Given the description of an element on the screen output the (x, y) to click on. 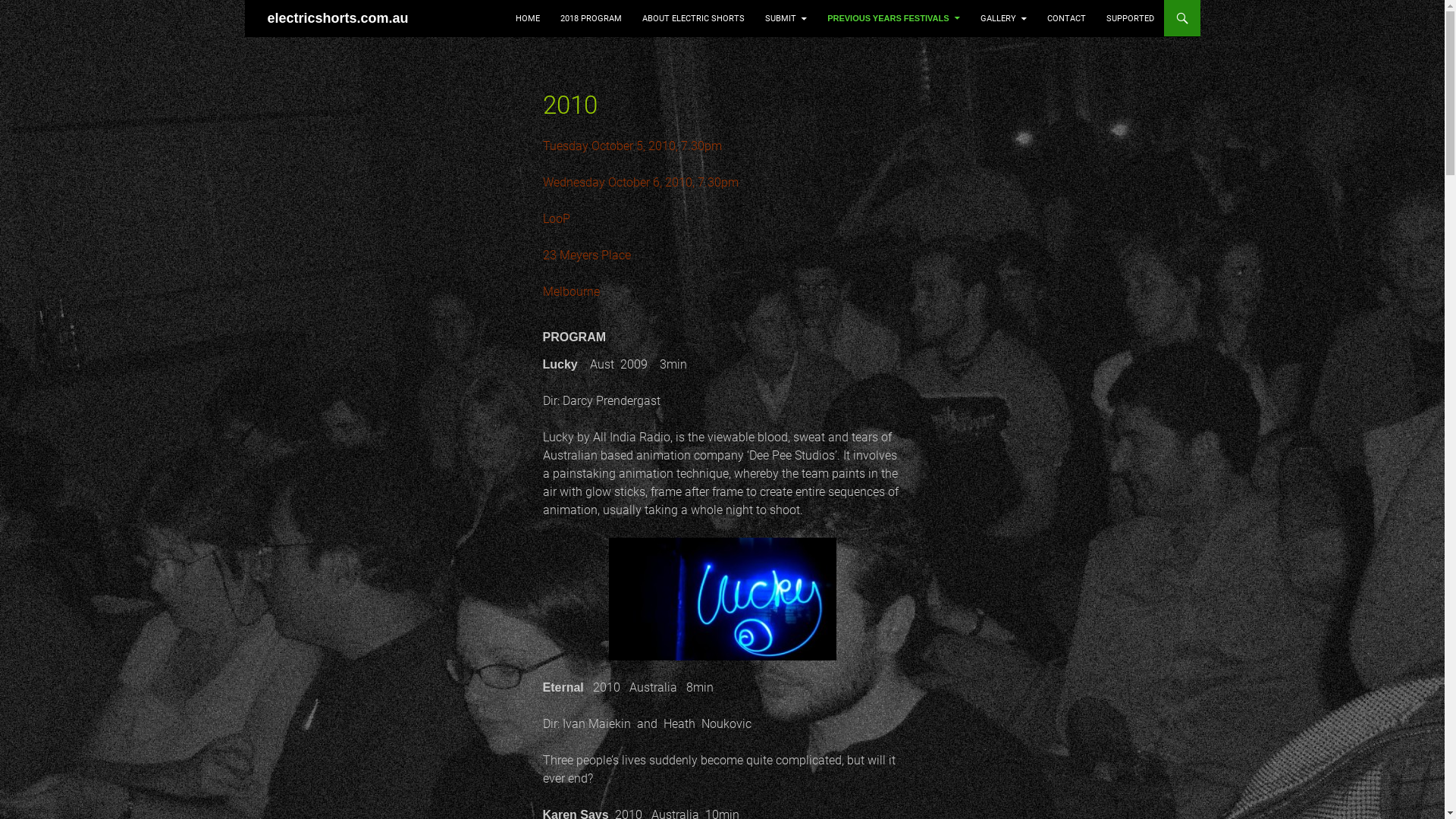
PREVIOUS YEARS FESTIVALS Element type: text (893, 18)
GALLERY Element type: text (1002, 18)
HOME Element type: text (527, 18)
SKIP TO CONTENT Element type: text (551, 6)
SUBMIT Element type: text (785, 18)
ABOUT ELECTRIC SHORTS Element type: text (693, 18)
electricshorts.com.au Element type: text (336, 17)
Search Element type: text (266, 9)
SUPPORTED Element type: text (1129, 18)
CONTACT Element type: text (1065, 18)
2018 PROGRAM Element type: text (590, 18)
